Given the description of an element on the screen output the (x, y) to click on. 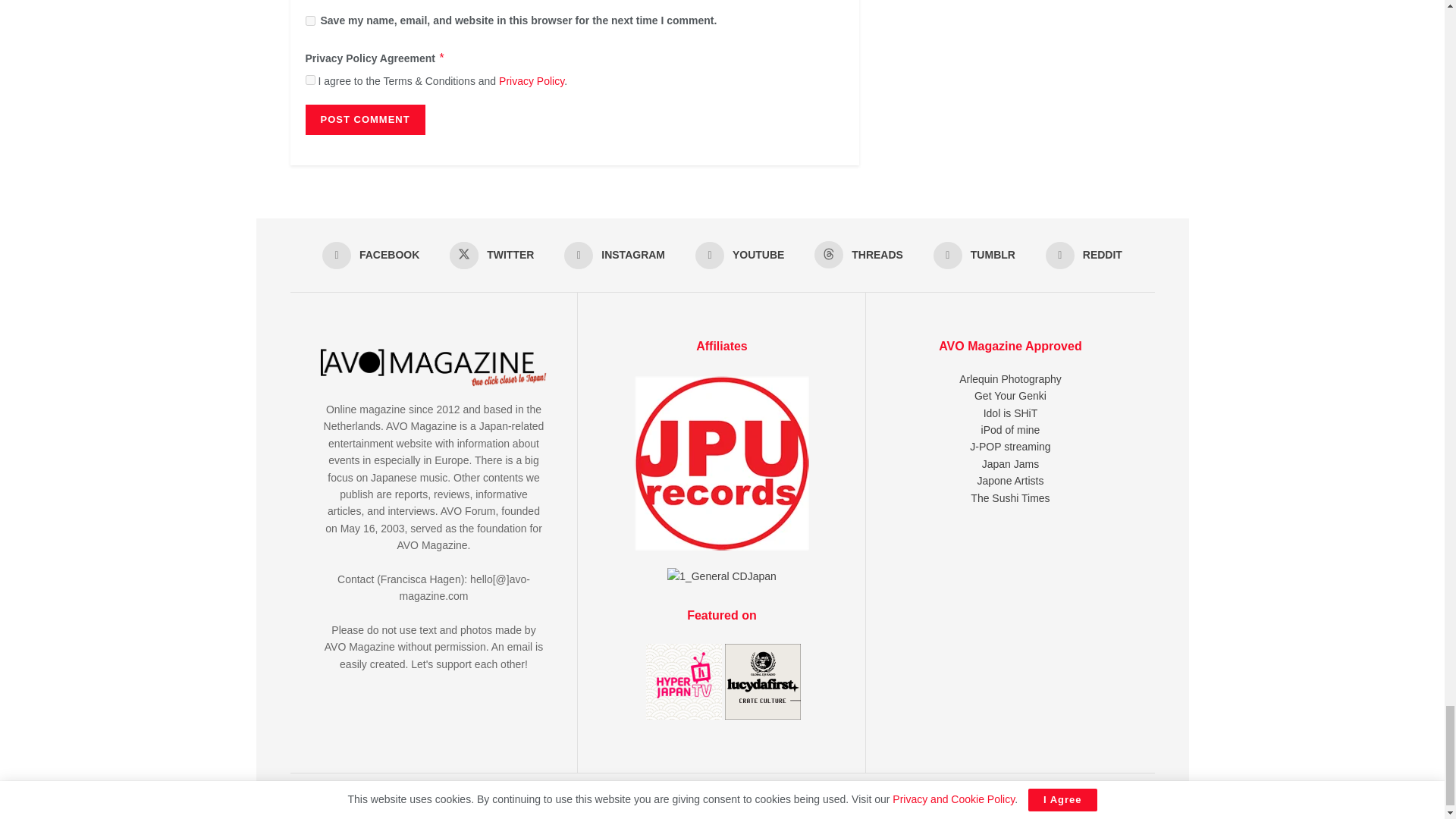
yes (309, 20)
on (309, 80)
Japanese theatrical group based in The Netherlands (1009, 480)
Post Comment (364, 119)
Making playlist of interesting music videos since 2016 (1011, 429)
